Given the description of an element on the screen output the (x, y) to click on. 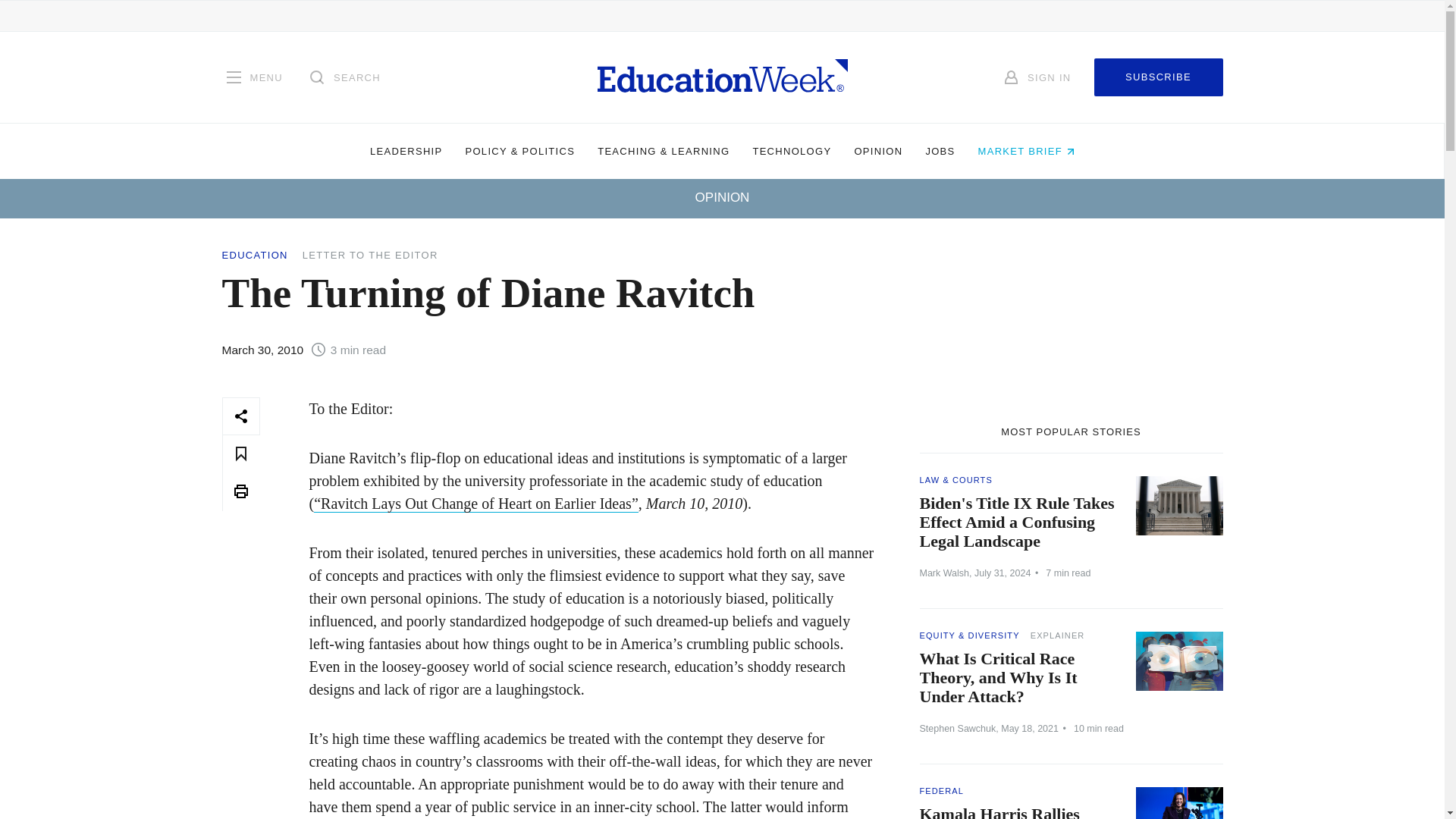
Homepage (721, 76)
